Given the description of an element on the screen output the (x, y) to click on. 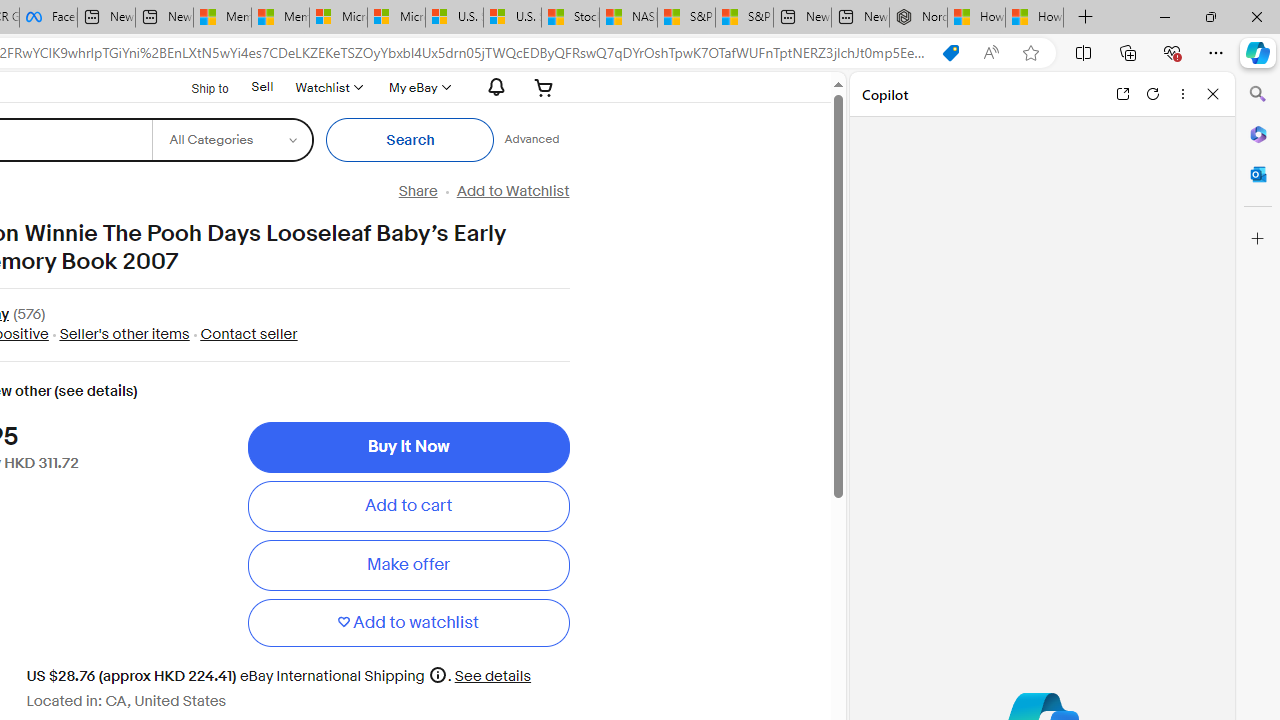
Add to cart (408, 506)
See details for shipping (493, 676)
My eBay (418, 87)
How to Use a Monitor With Your Closed Laptop (1034, 17)
Notifications (491, 87)
Your shopping cart (543, 87)
You have the best price! (950, 53)
Seller's other items (123, 334)
Ship to (197, 85)
Outlook (1258, 174)
